Given the description of an element on the screen output the (x, y) to click on. 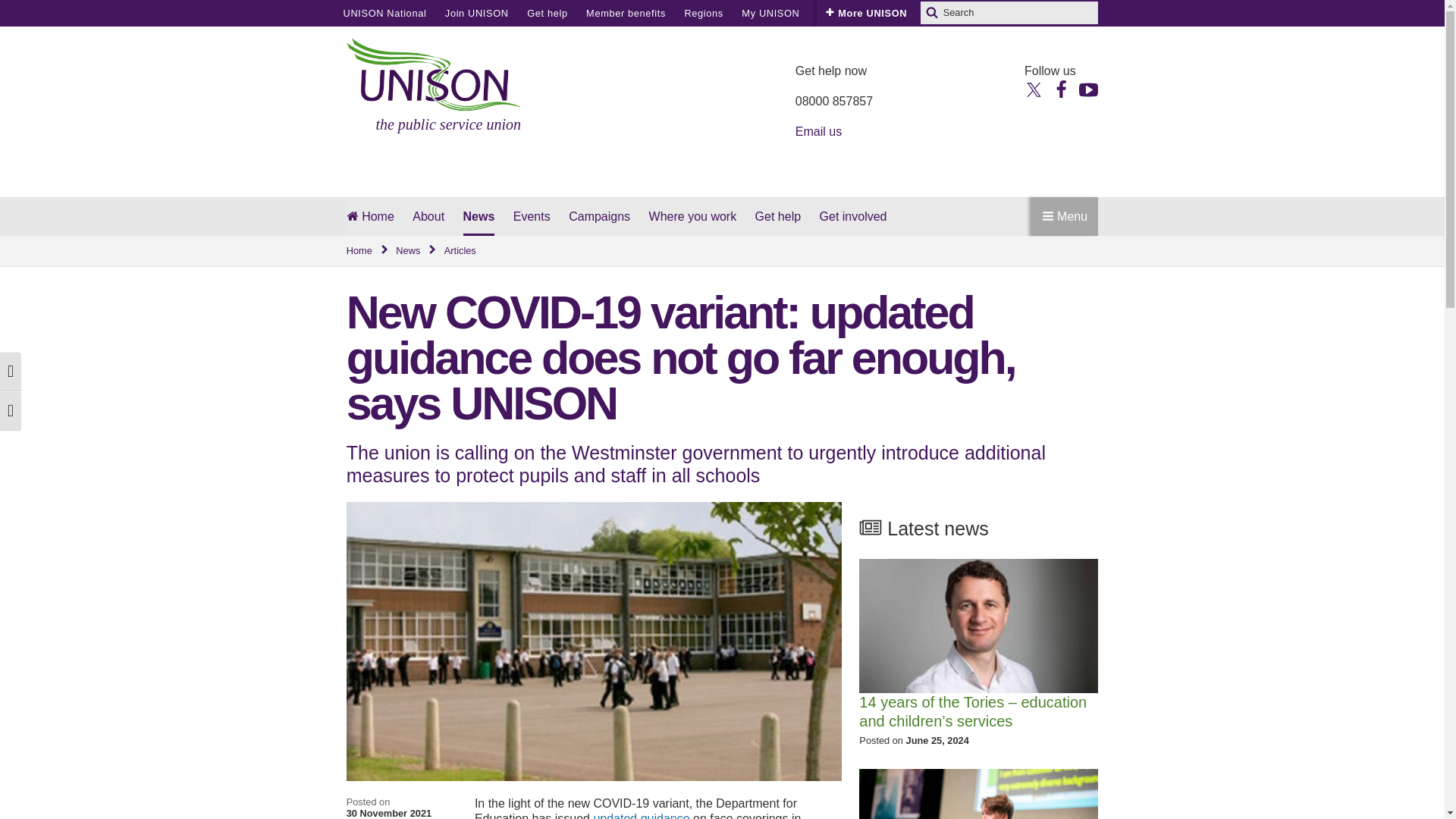
the public service union (433, 85)
Join UNISON (476, 13)
Youtube (1087, 88)
News (417, 250)
Home News Articles (722, 250)
Get help (547, 13)
Articles (460, 250)
Facebook (1060, 88)
